Given the description of an element on the screen output the (x, y) to click on. 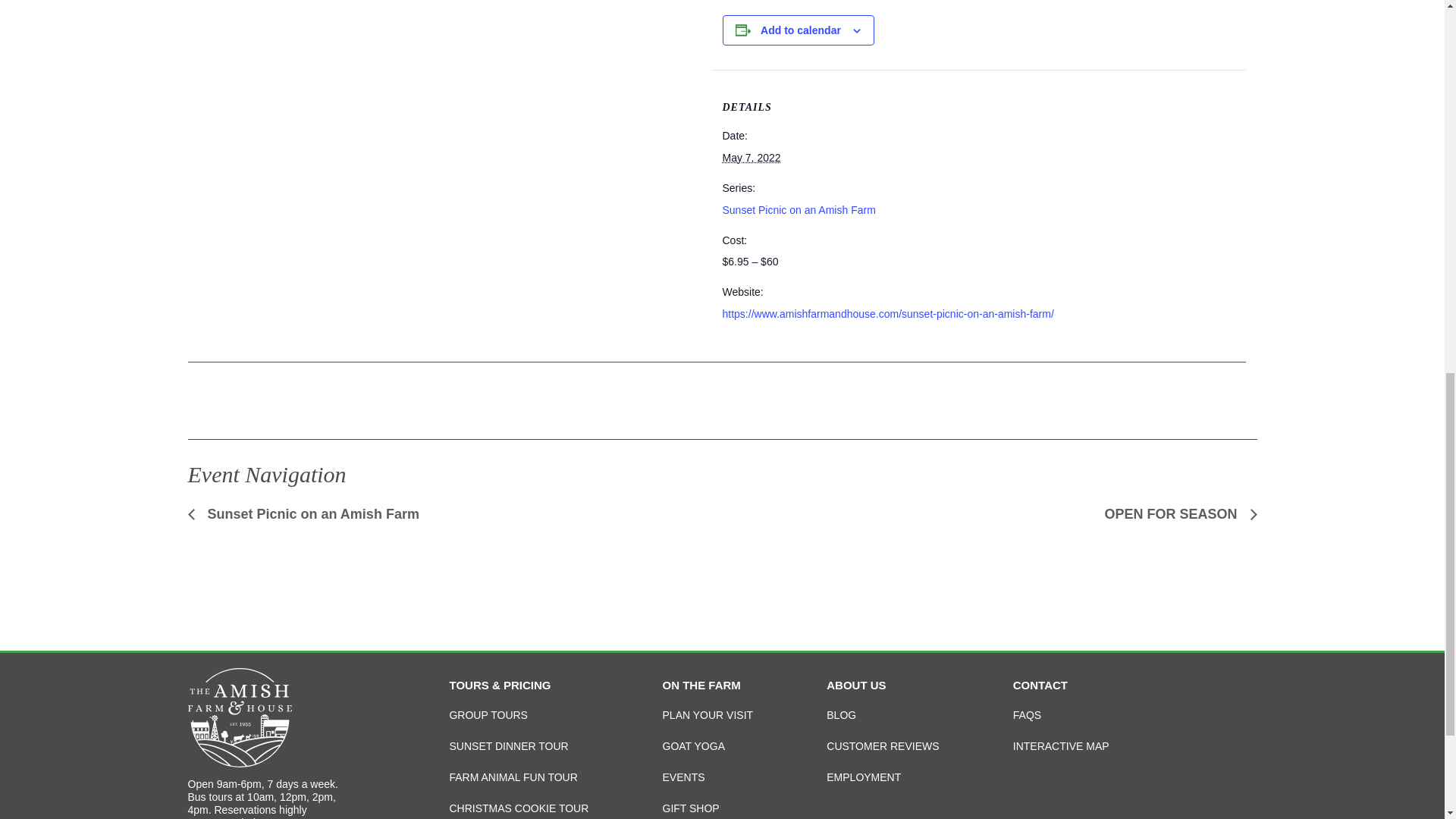
Sunset Picnic on an Amish Farm (798, 209)
Add to calendar (800, 30)
LOGO (239, 717)
2022-05-07 (751, 157)
